Given the description of an element on the screen output the (x, y) to click on. 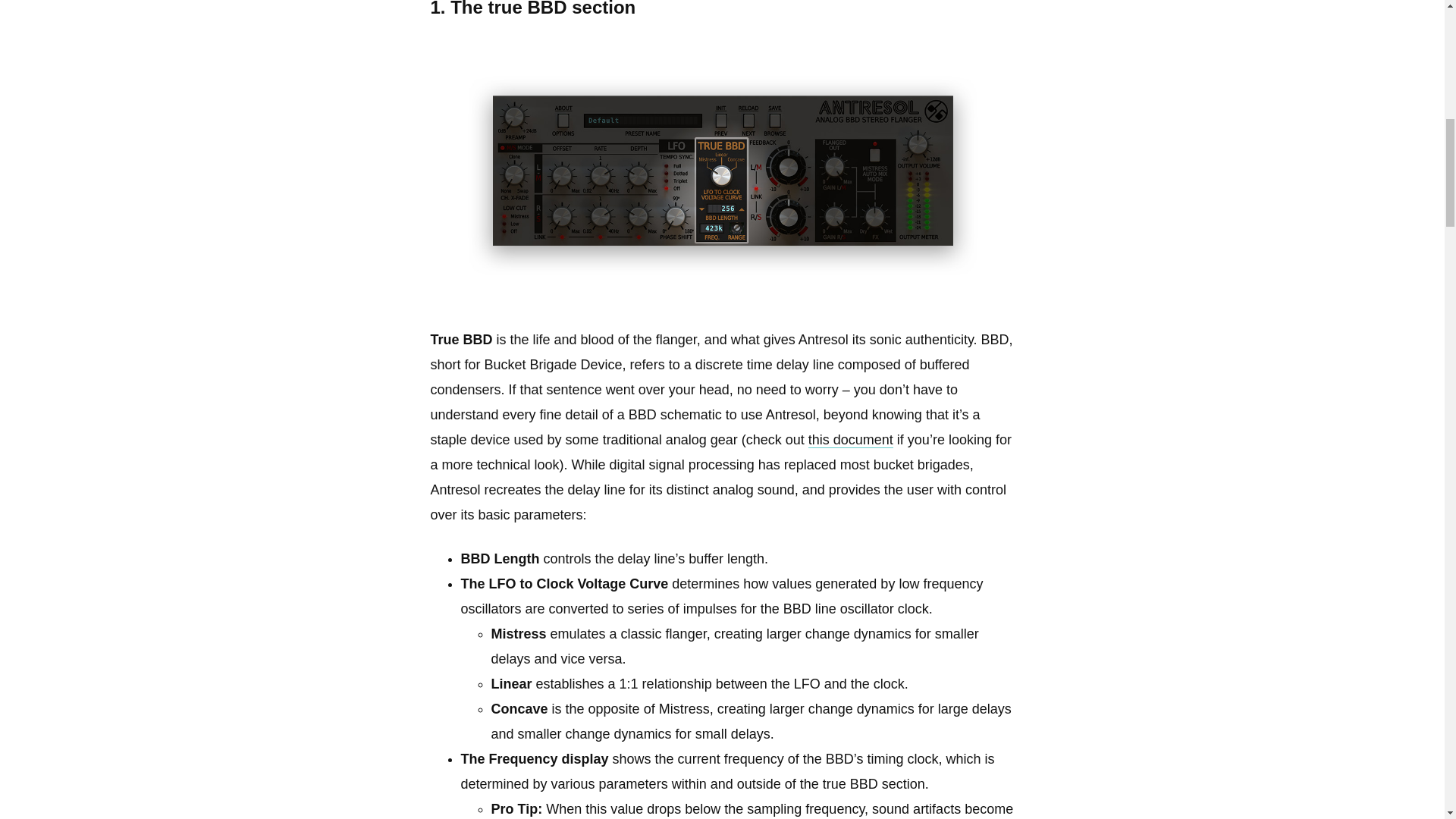
Join (1127, 766)
